Given the description of an element on the screen output the (x, y) to click on. 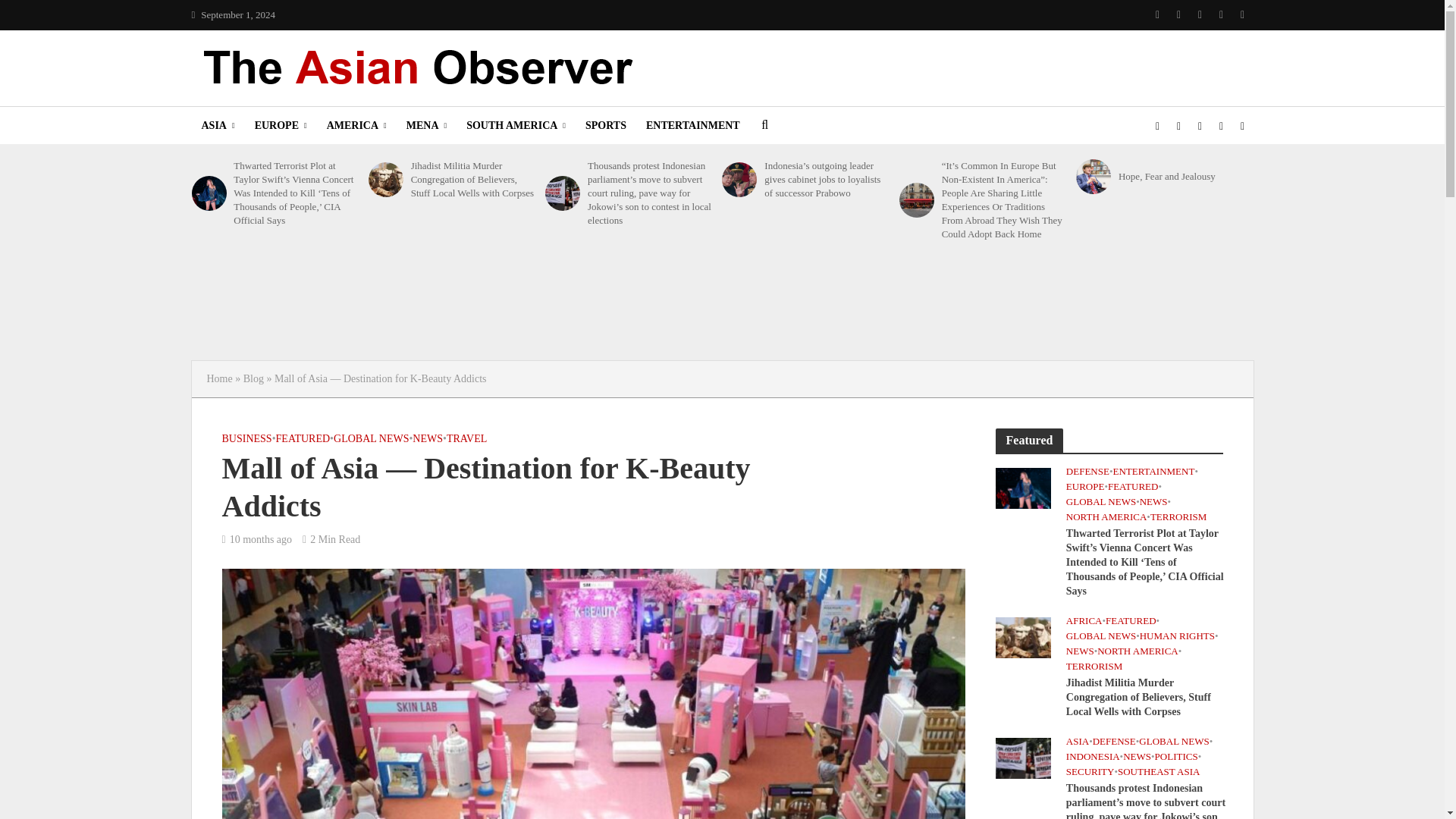
MENA (426, 125)
AMERICA (356, 125)
ASIA (217, 125)
ENTERTAINMENT (692, 125)
EUROPE (280, 125)
Hope, Fear and Jealousy (1092, 176)
SPORTS (605, 125)
SOUTH AMERICA (516, 125)
